Given the description of an element on the screen output the (x, y) to click on. 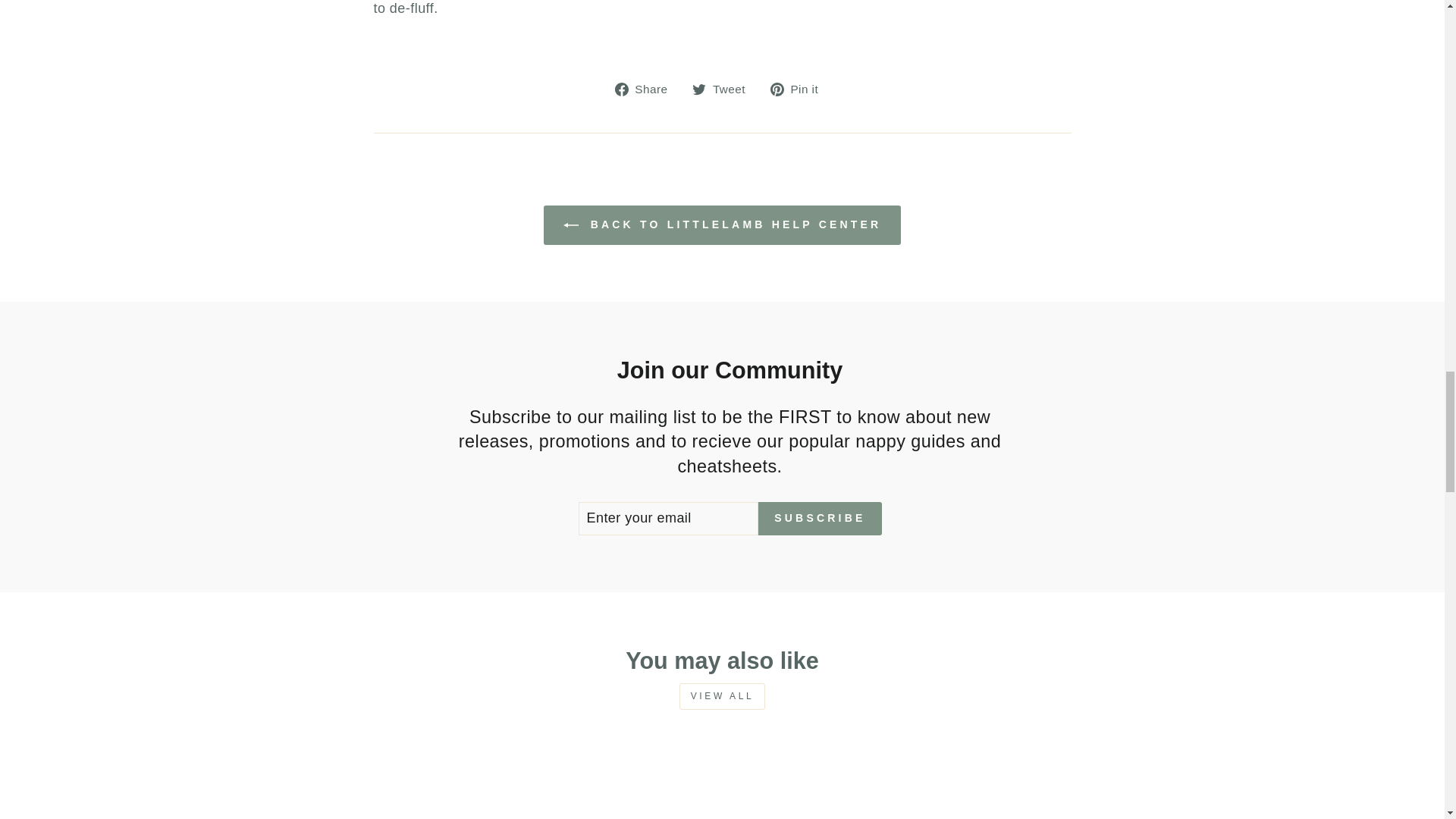
Tweet on Twitter (725, 87)
Share on Facebook (646, 87)
ICON-LEFT-ARROW (570, 224)
Pin on Pinterest (799, 87)
twitter (699, 89)
